Given the description of an element on the screen output the (x, y) to click on. 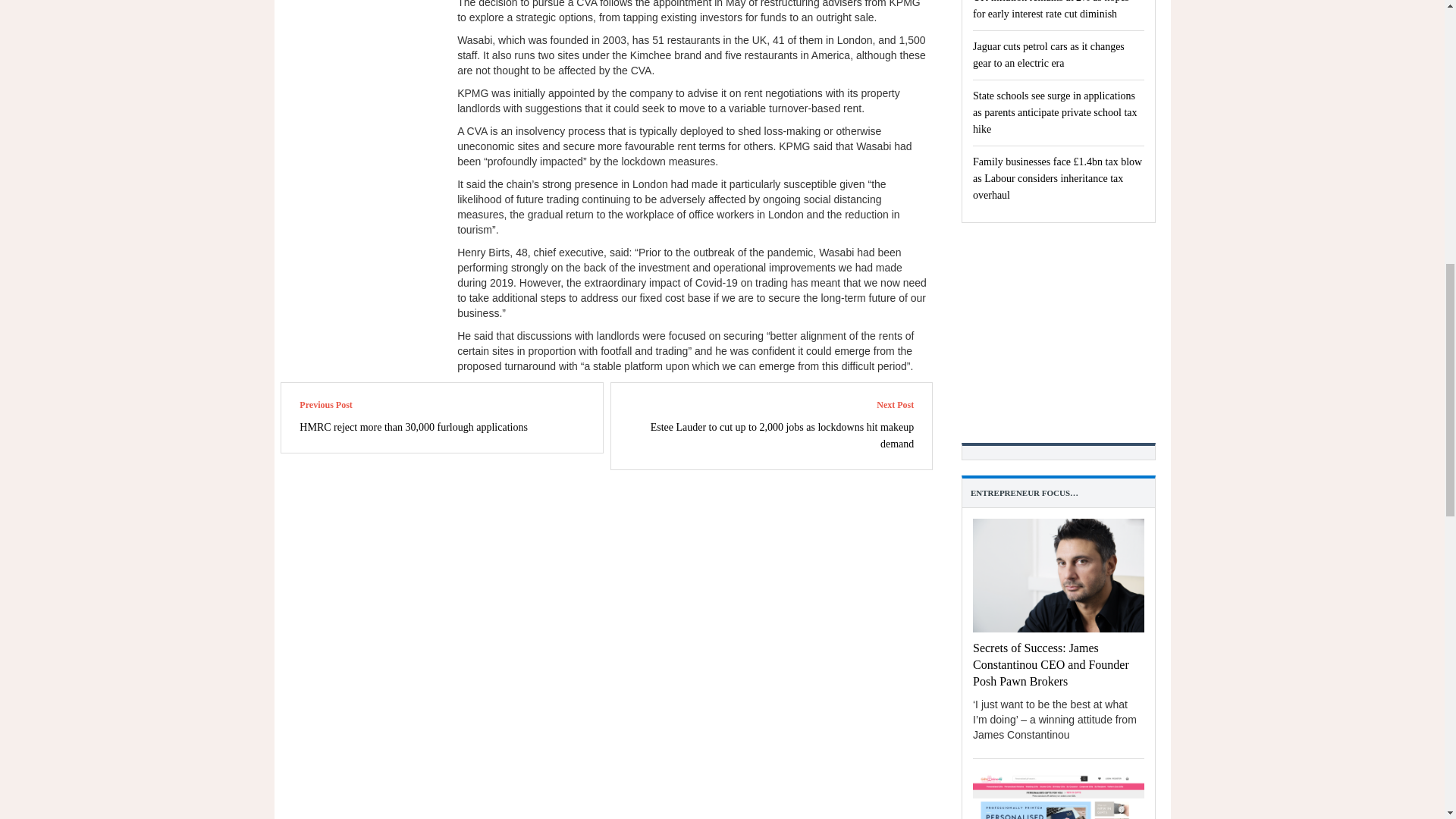
HMRC reject more than 30,000 furlough applications (413, 427)
